Given the description of an element on the screen output the (x, y) to click on. 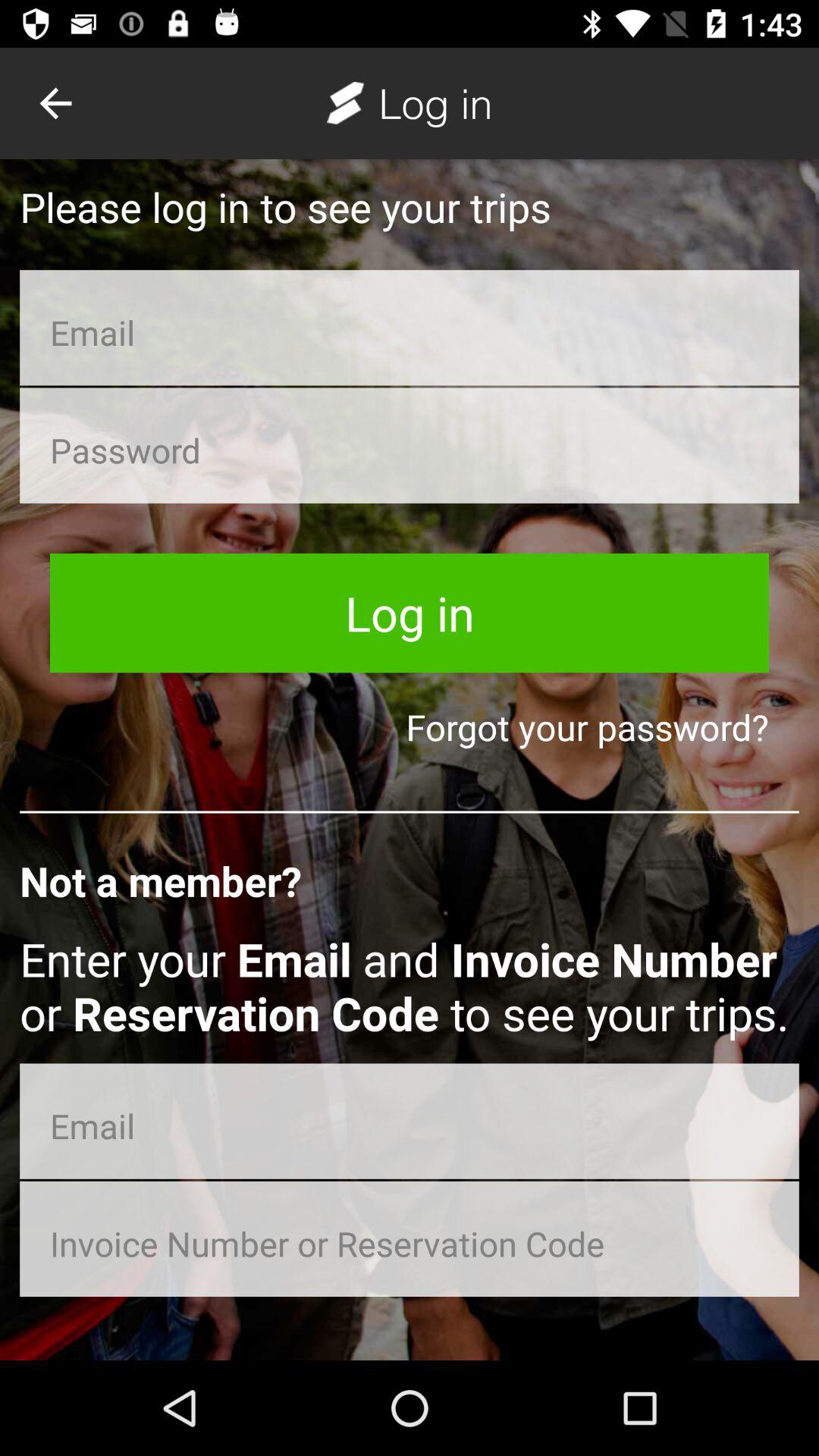
enter email (409, 327)
